Given the description of an element on the screen output the (x, y) to click on. 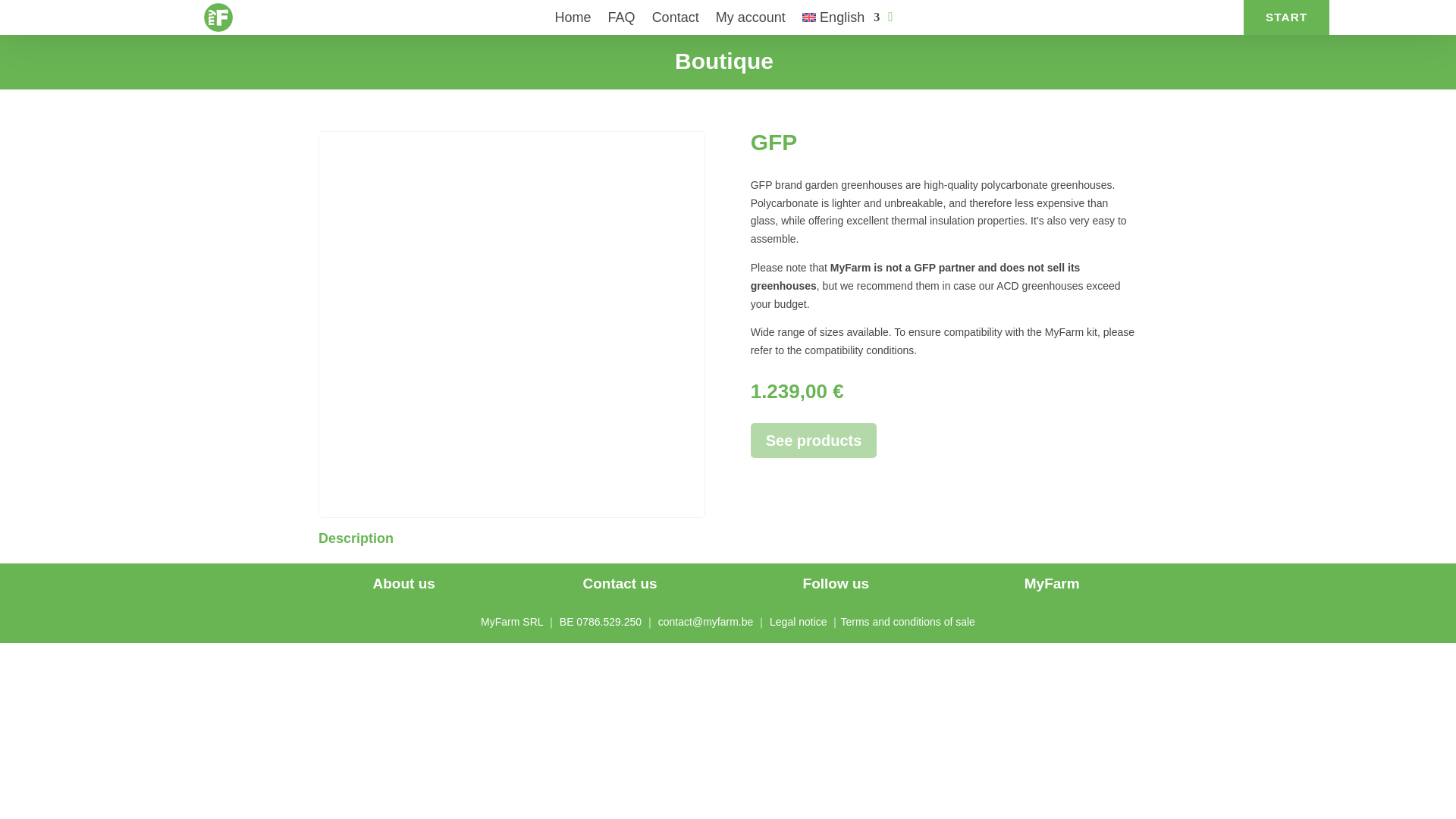
FAQ (621, 20)
Legal notice (798, 621)
MyFarm logo (217, 17)
START (1286, 17)
Contact (675, 20)
Home (572, 20)
My account (751, 20)
English (840, 20)
See products (814, 440)
English (840, 20)
Terms and conditions of sale (907, 621)
